Given the description of an element on the screen output the (x, y) to click on. 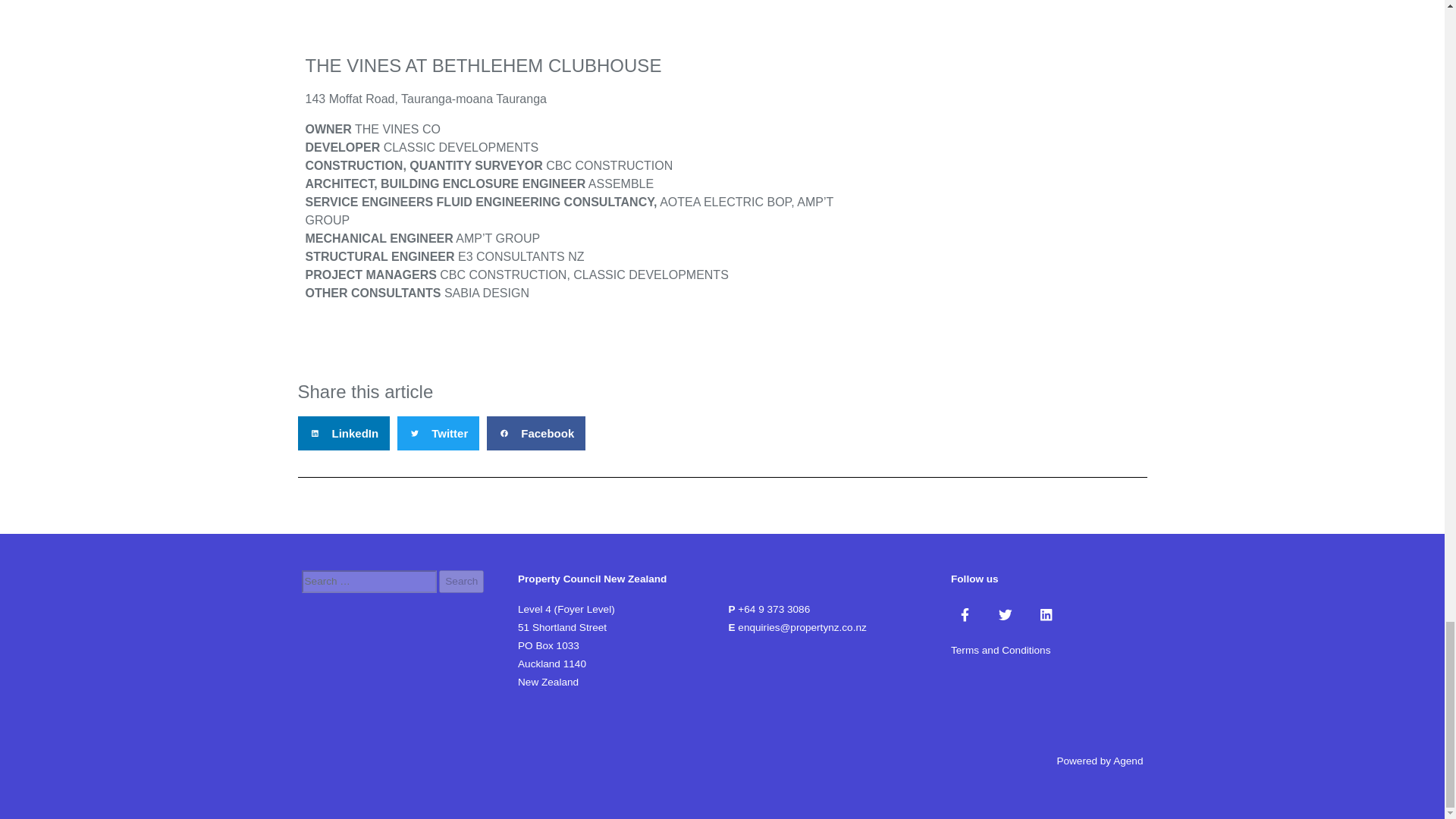
Search (461, 581)
Search (461, 581)
Twitter (1004, 614)
